Given the description of an element on the screen output the (x, y) to click on. 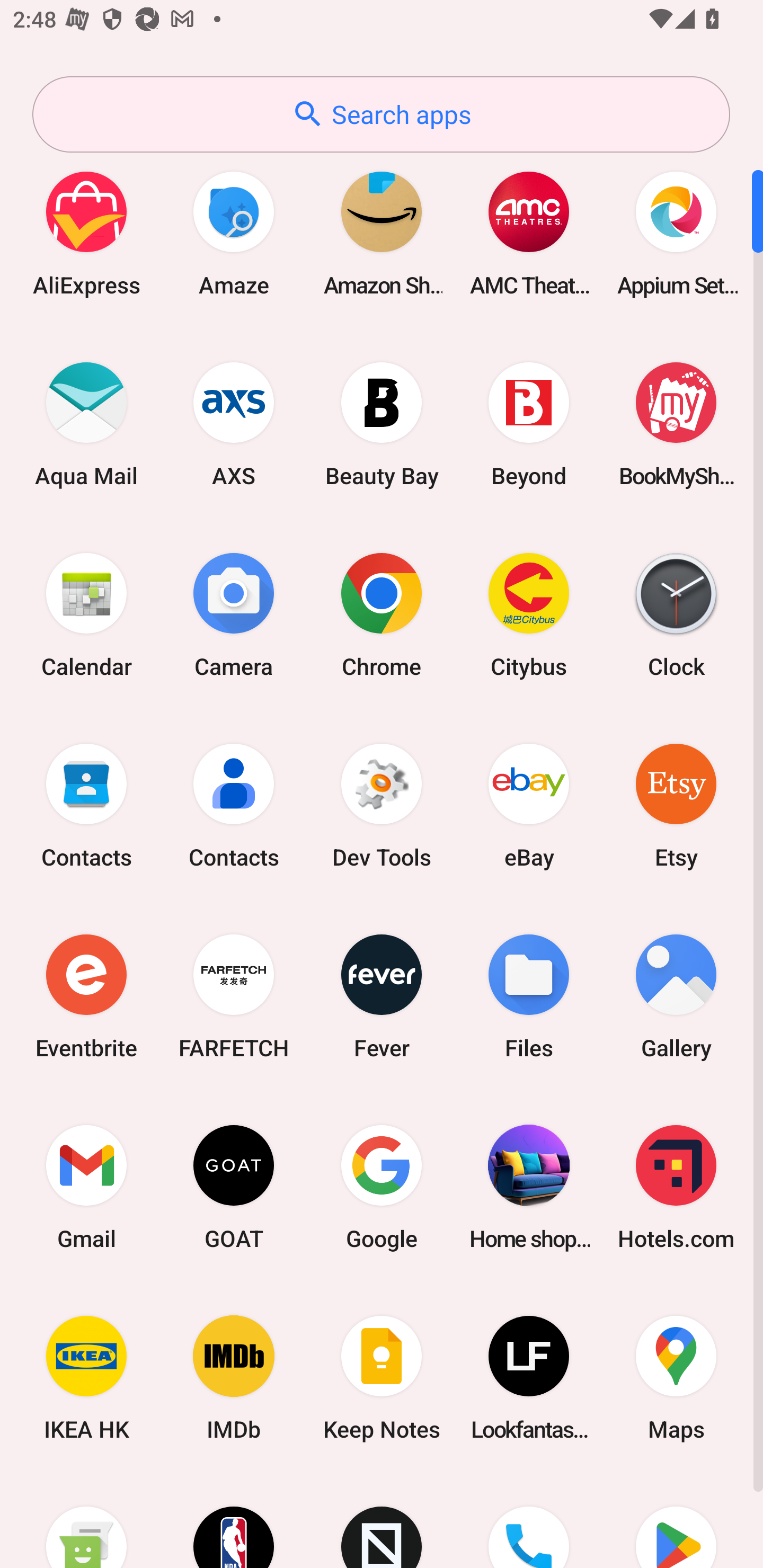
  Search apps (381, 114)
AliExpress (86, 233)
Amaze (233, 233)
Amazon Shopping (381, 233)
AMC Theatres (528, 233)
Appium Settings (676, 233)
Aqua Mail (86, 424)
AXS (233, 424)
Beauty Bay (381, 424)
Beyond (528, 424)
BookMyShow (676, 424)
Calendar (86, 614)
Camera (233, 614)
Chrome (381, 614)
Citybus (528, 614)
Clock (676, 614)
Contacts (86, 805)
Contacts (233, 805)
Dev Tools (381, 805)
eBay (528, 805)
Etsy (676, 805)
Eventbrite (86, 996)
FARFETCH (233, 996)
Fever (381, 996)
Files (528, 996)
Gallery (676, 996)
Gmail (86, 1186)
GOAT (233, 1186)
Google (381, 1186)
Home shopping (528, 1186)
Hotels.com (676, 1186)
IKEA HK (86, 1377)
IMDb (233, 1377)
Keep Notes (381, 1377)
Lookfantastic (528, 1377)
Maps (676, 1377)
Messaging (86, 1520)
NBA (233, 1520)
Novelship (381, 1520)
Phone (528, 1520)
Play Store (676, 1520)
